Given the description of an element on the screen output the (x, y) to click on. 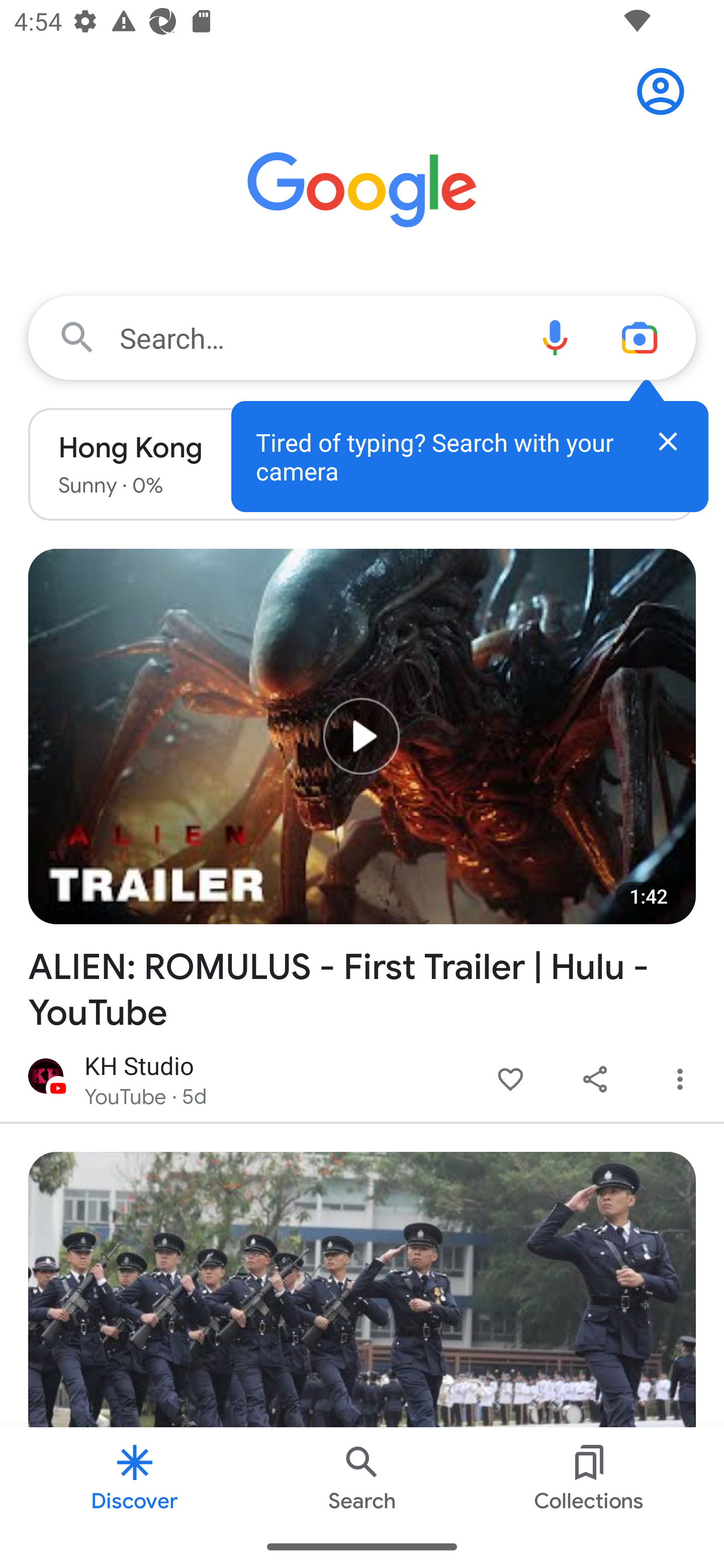
Account and settings.
Choose an account (667, 90)
Search… Search… Voice search Camera search (361, 336)
Voice search (554, 336)
Camera search (646, 336)
Close (668, 441)
More options (679, 1079)
Like (510, 1079)
Search (361, 1475)
Collections Button Collections (589, 1475)
